Given the description of an element on the screen output the (x, y) to click on. 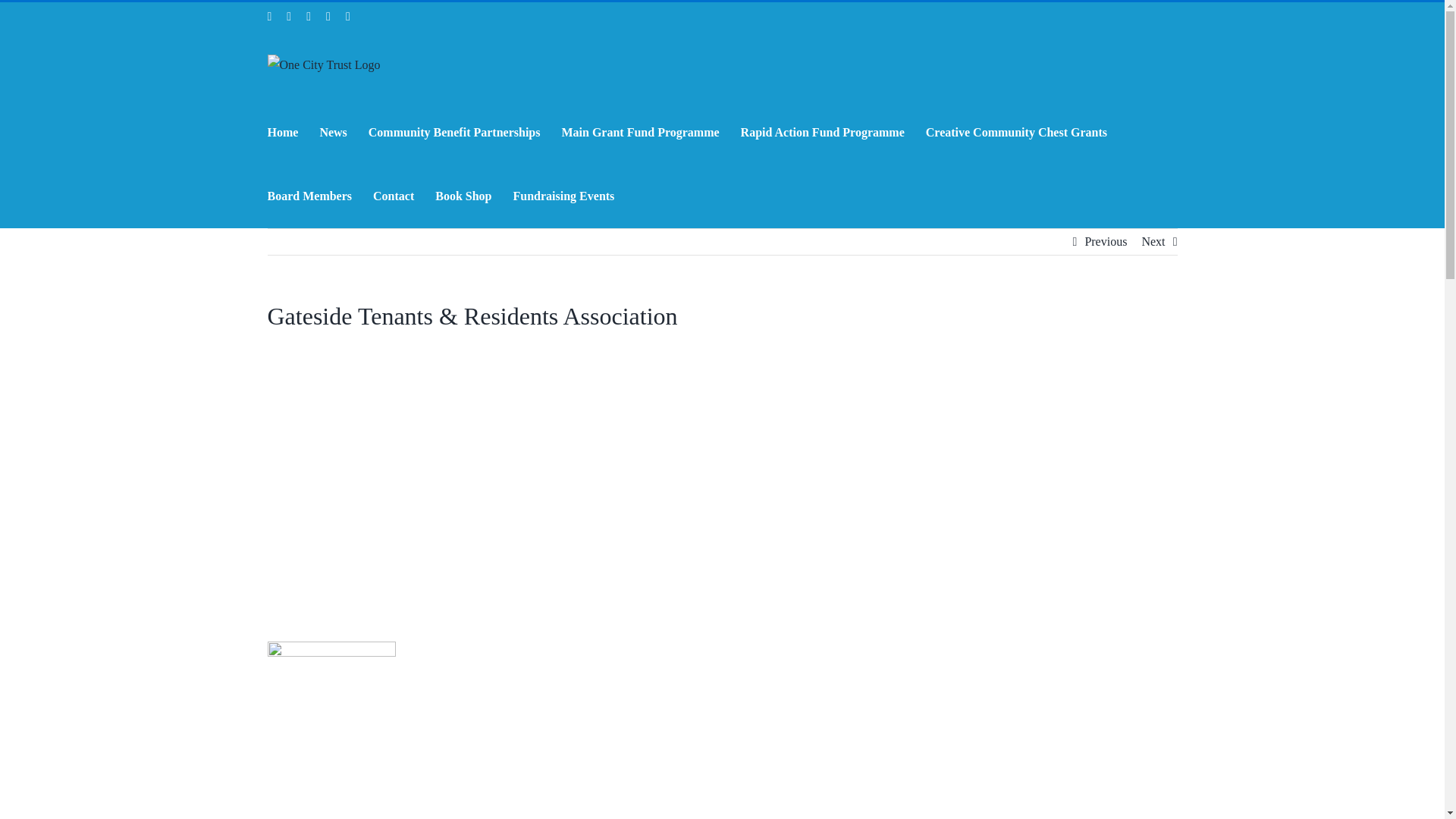
Fundraising Events (563, 195)
Board Members (309, 195)
Previous (1105, 241)
Creative Community Chest Grants (1016, 131)
Main Grant Fund Programme (639, 131)
Rapid Action Fund Programme (822, 131)
Next (1152, 241)
Community Benefit Partnerships (454, 131)
